Given the description of an element on the screen output the (x, y) to click on. 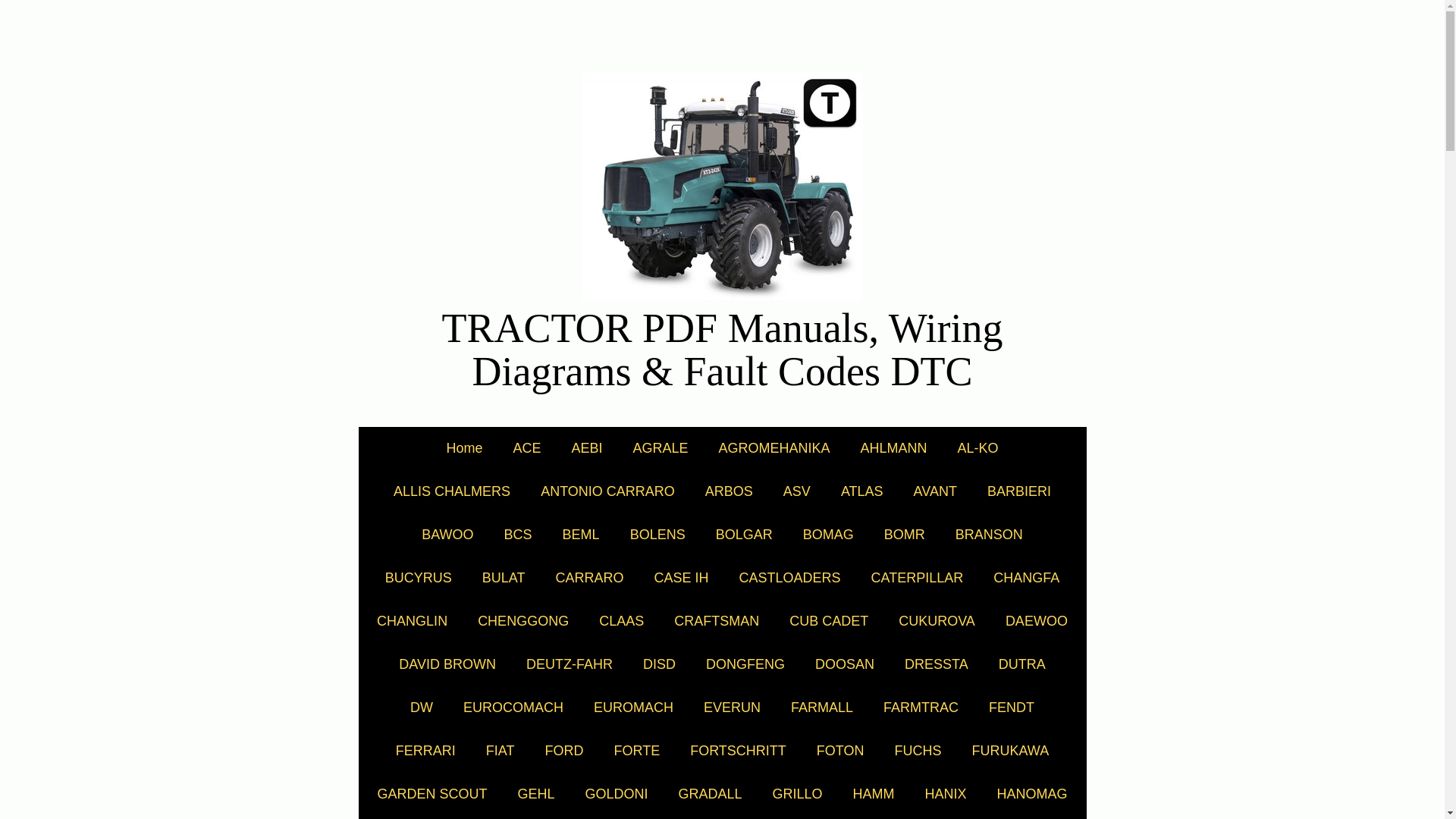
ARBOS (729, 491)
AVANT (935, 491)
CHANGFA (1026, 577)
CUKUROVA (936, 620)
CHANGLIN (412, 620)
Home (463, 448)
CASTLOADERS (789, 577)
DAEWOO (1036, 620)
ASV (796, 491)
CRAFTSMAN (716, 620)
